Given the description of an element on the screen output the (x, y) to click on. 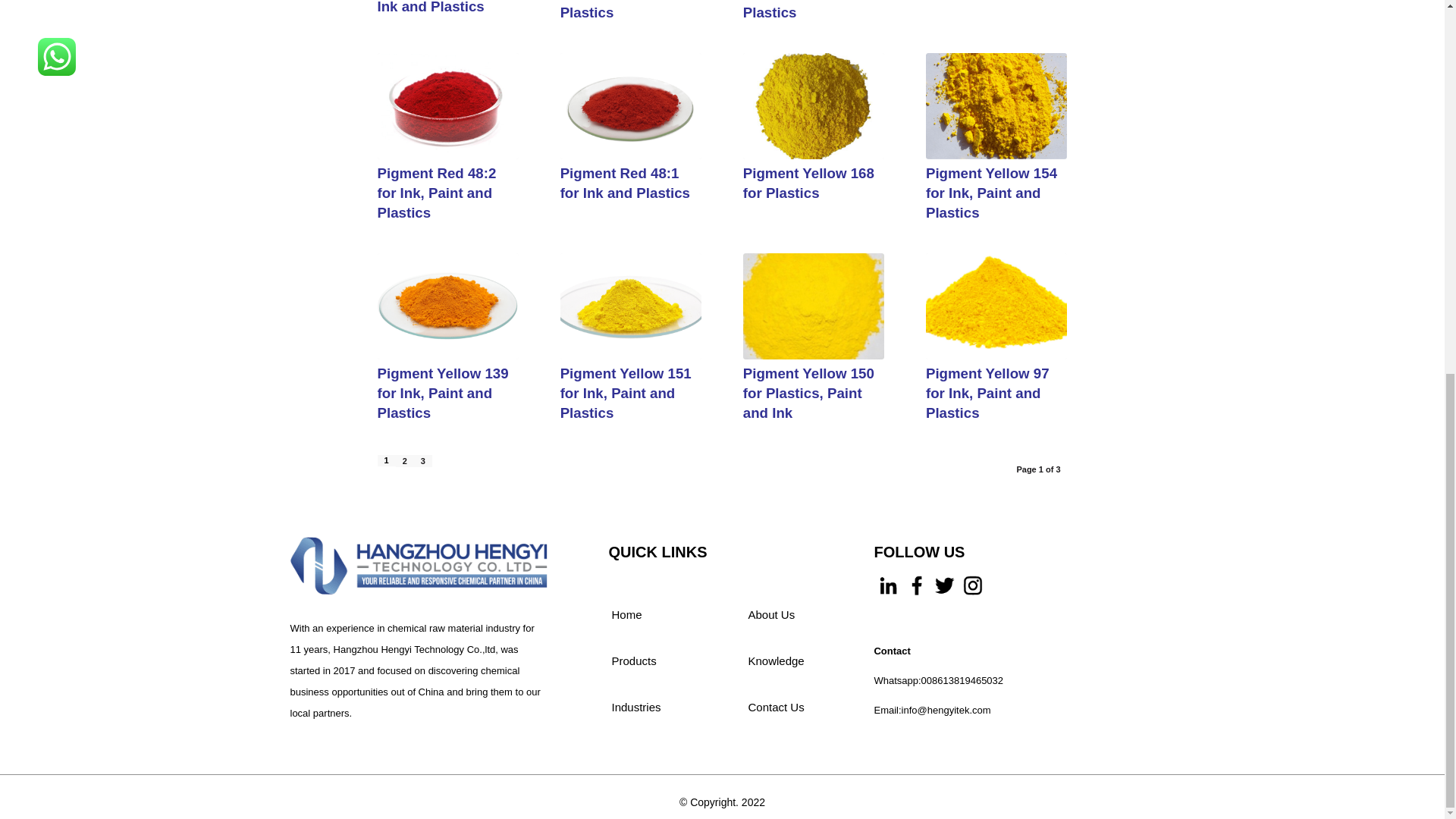
Pigment Red 176 for Ink and Plastics (446, 7)
Pigment Red 57:1 for Ink, Paint and Plastics (801, 9)
Pigment Red 166 for Ink, Paint and Plastics (628, 9)
